Given the description of an element on the screen output the (x, y) to click on. 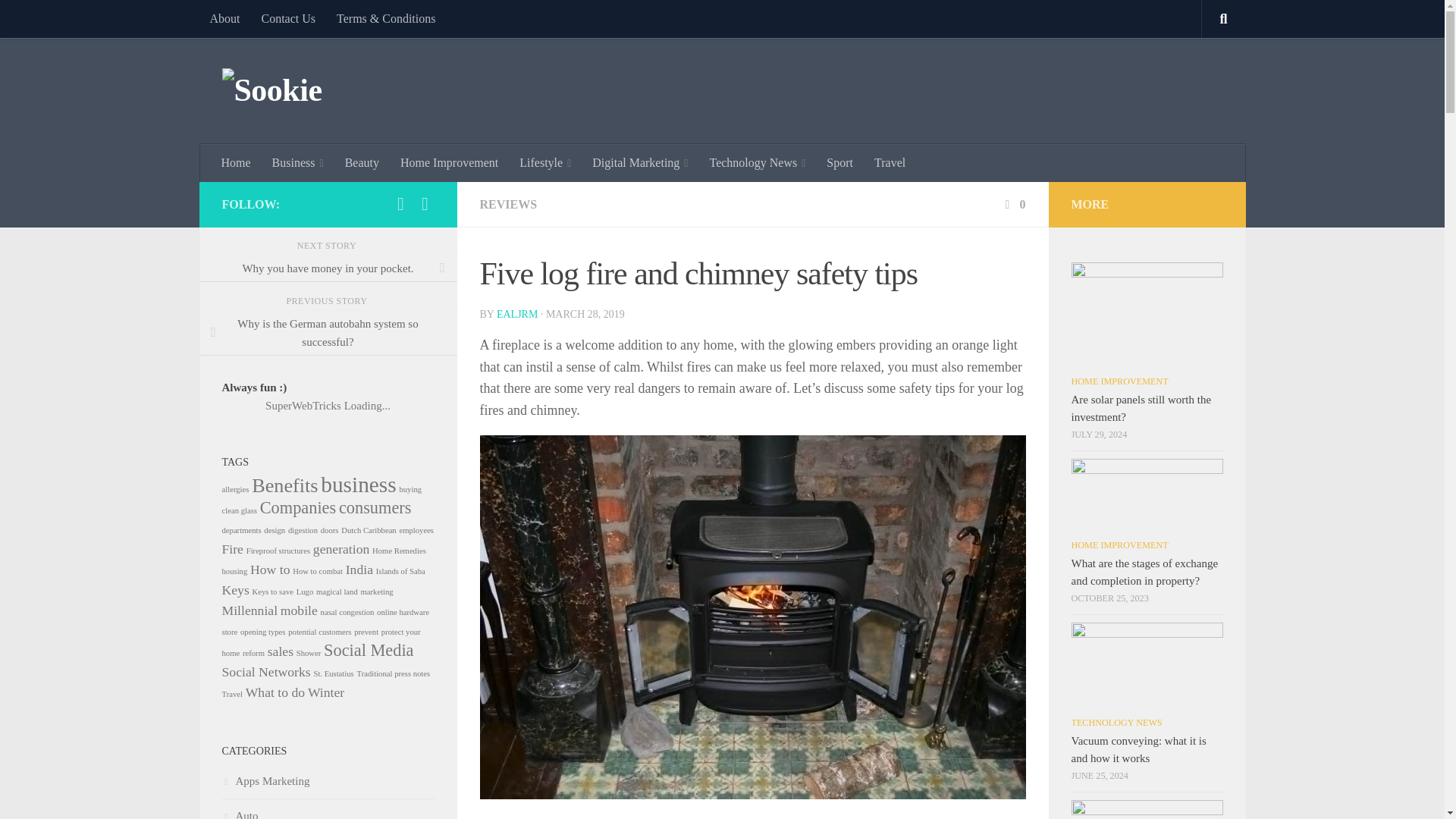
Skip to content (59, 20)
Home (236, 162)
Posts by EaLjrm (516, 314)
Business (298, 162)
Twitter (423, 203)
Facebook (400, 203)
About (224, 18)
Contact Us (288, 18)
